Given the description of an element on the screen output the (x, y) to click on. 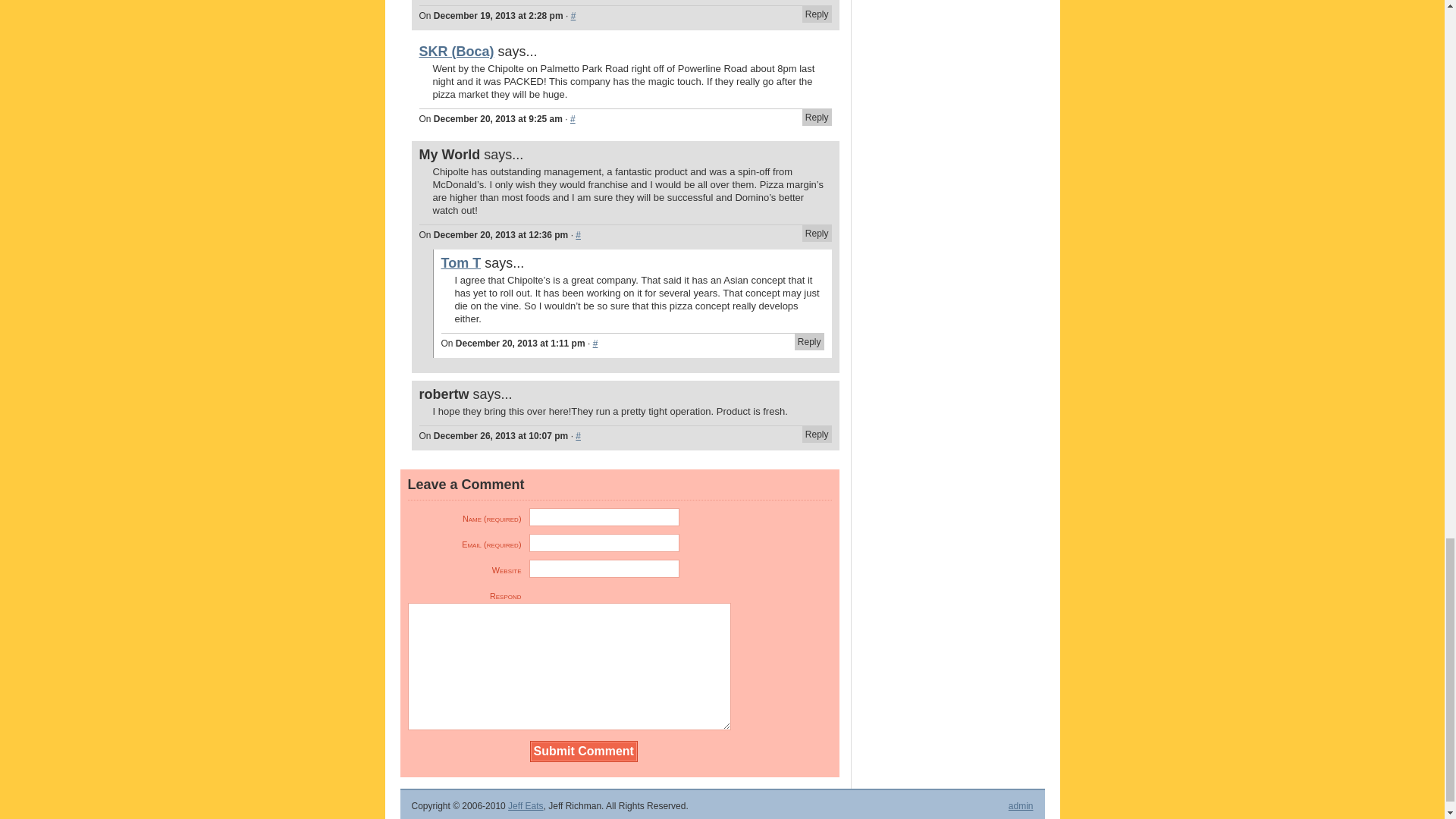
Tom T (461, 263)
Reply (816, 13)
Submit Comment (584, 751)
Submit Comment (584, 751)
Reply (809, 341)
Reply (816, 233)
Reply (816, 434)
Reply (816, 117)
